Given the description of an element on the screen output the (x, y) to click on. 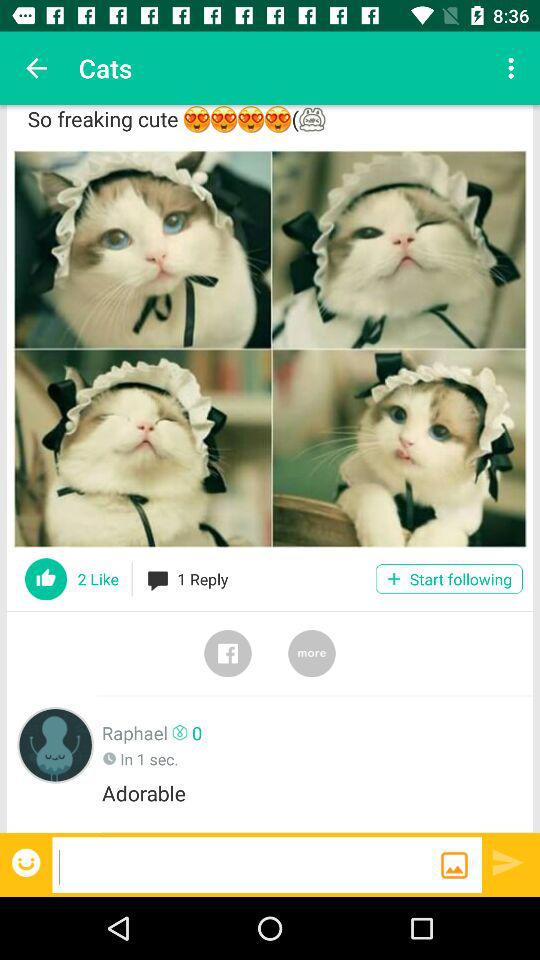
click on commenter 's photo icon (55, 744)
